Given the description of an element on the screen output the (x, y) to click on. 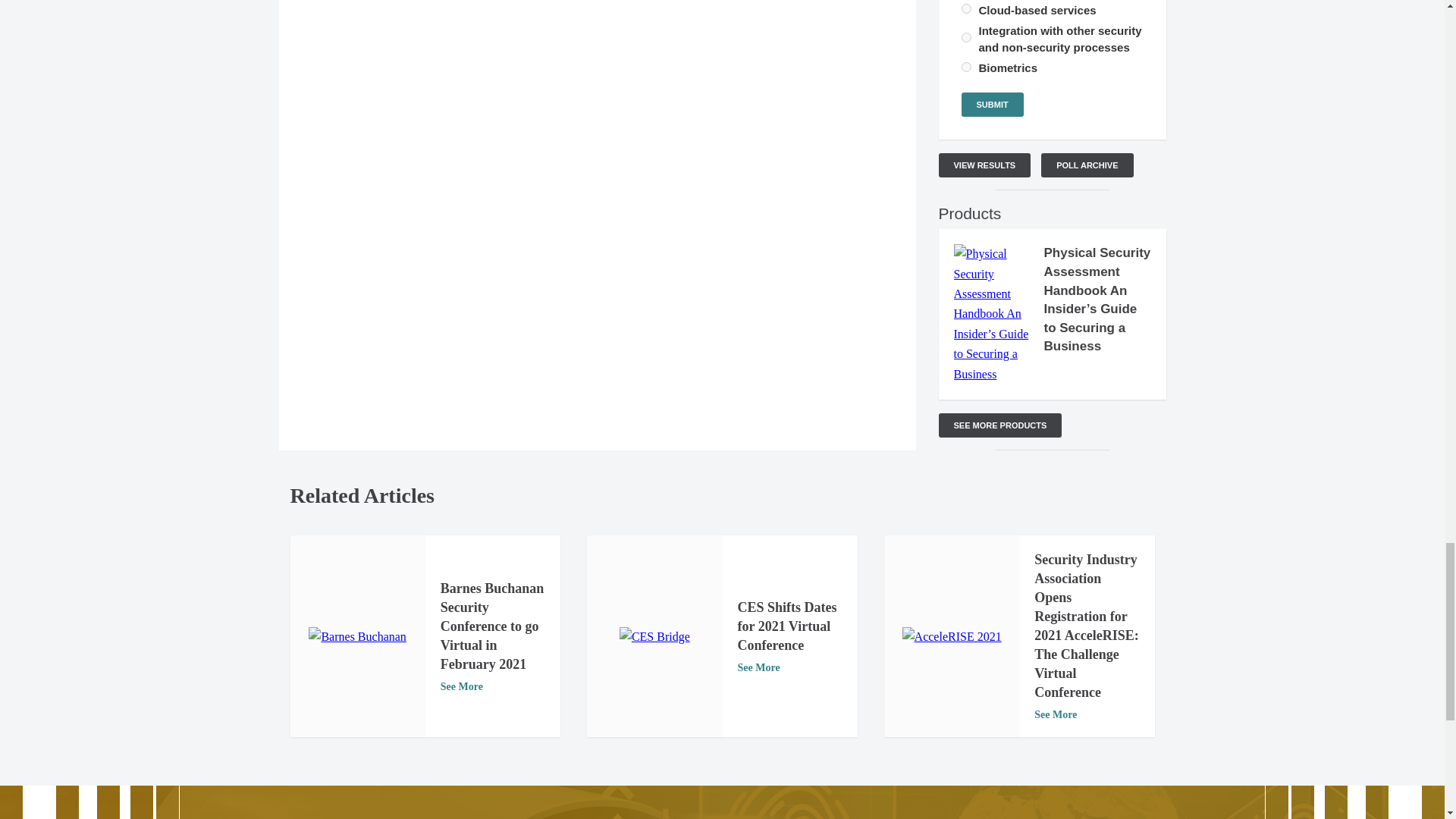
492 (965, 67)
CES Bridge (655, 637)
AcceleRISE 2021 (951, 637)
491 (965, 37)
490 (965, 8)
Barnes Buchanan (357, 637)
Submit (991, 104)
